Given the description of an element on the screen output the (x, y) to click on. 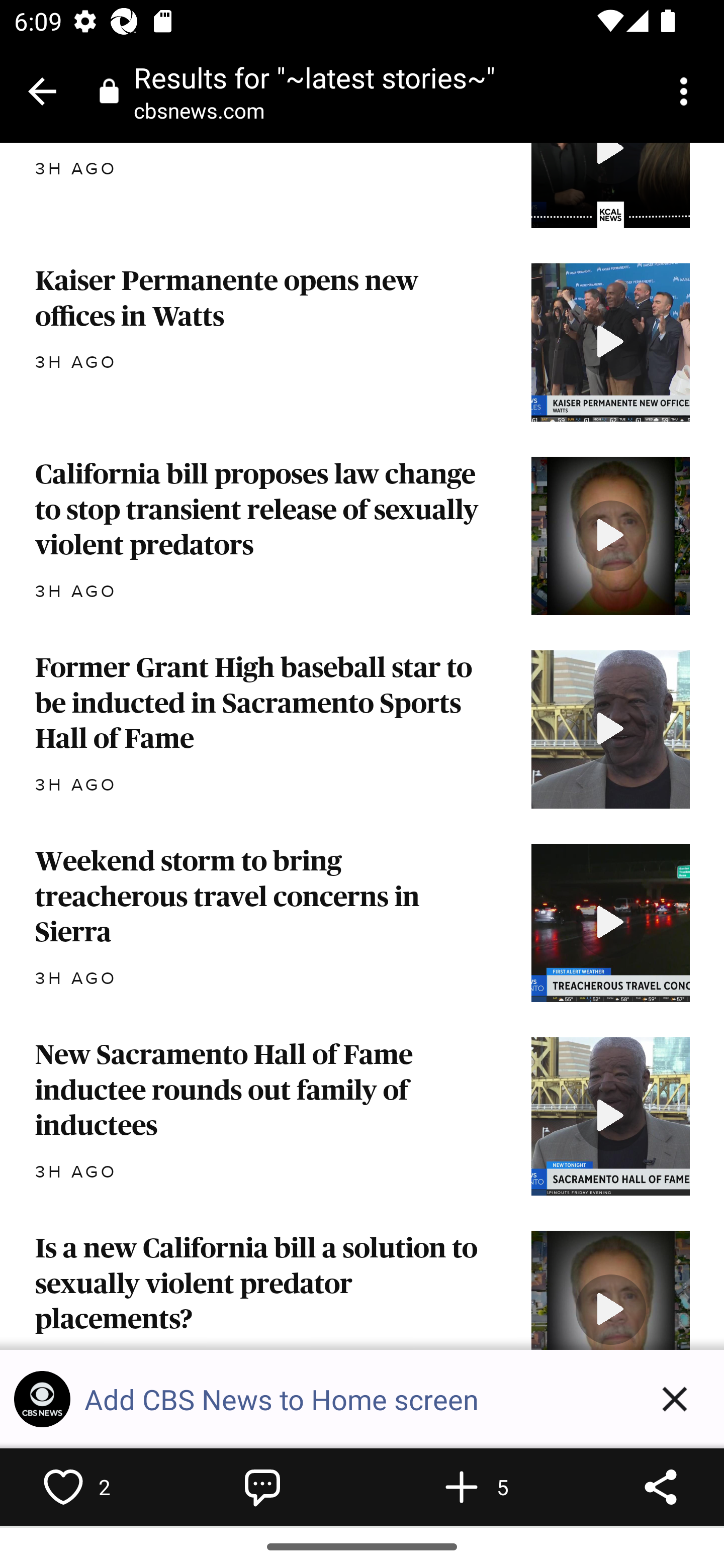
Close tab (42, 91)
More options (687, 91)
Connection is secure (108, 90)
cbsnews.com (205, 109)
Add CBS News to Home screen (354, 1399)
Close (674, 1399)
Like (63, 1486)
Write a comment… (262, 1486)
Flip into Magazine (461, 1486)
Share (660, 1486)
